Given the description of an element on the screen output the (x, y) to click on. 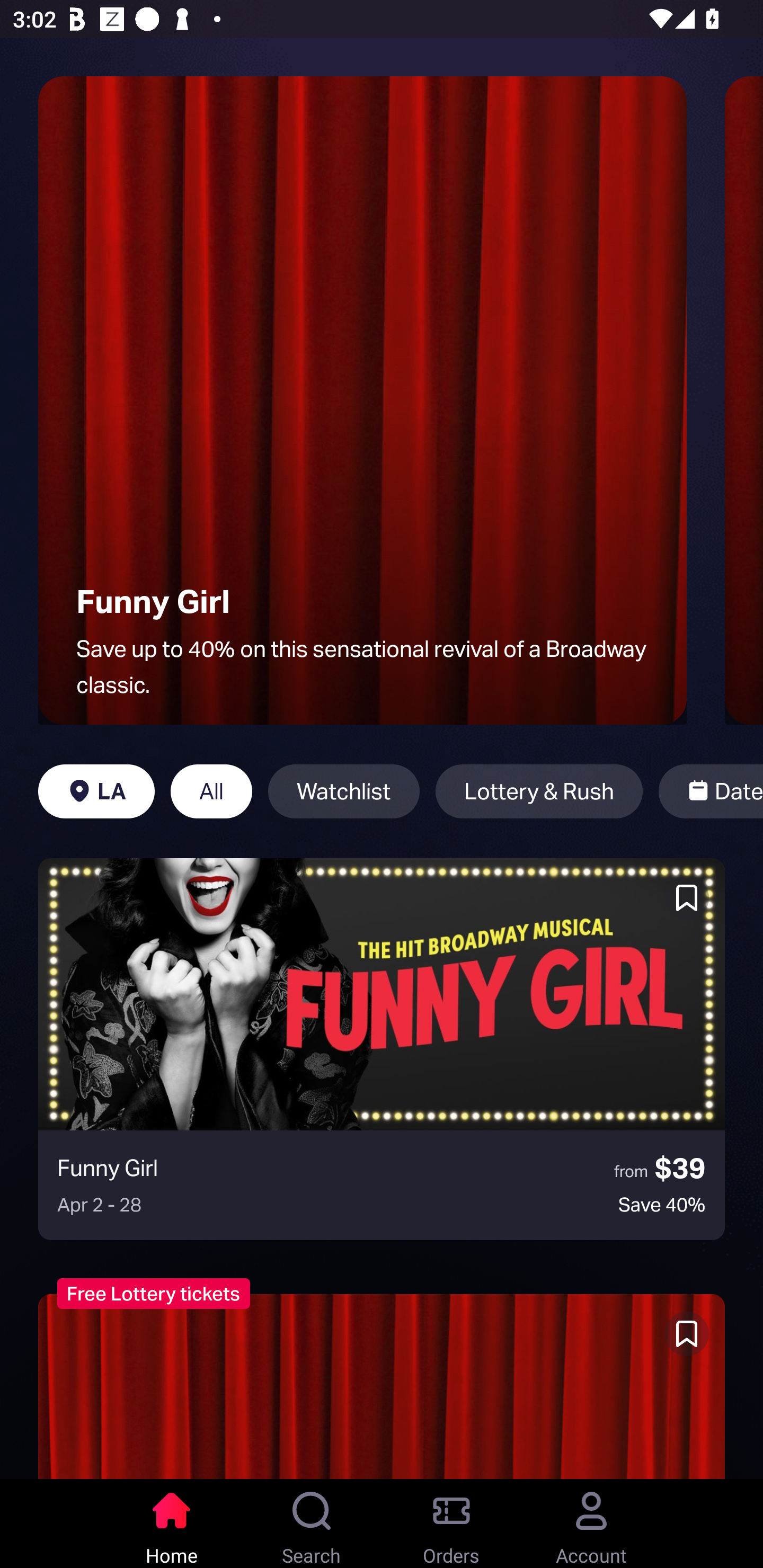
LA (96, 791)
All (211, 791)
Watchlist (343, 791)
Lottery & Rush (538, 791)
Funny Girl from $39 Apr 2 - 28 Save 40% (381, 1048)
Search (311, 1523)
Orders (451, 1523)
Account (591, 1523)
